Given the description of an element on the screen output the (x, y) to click on. 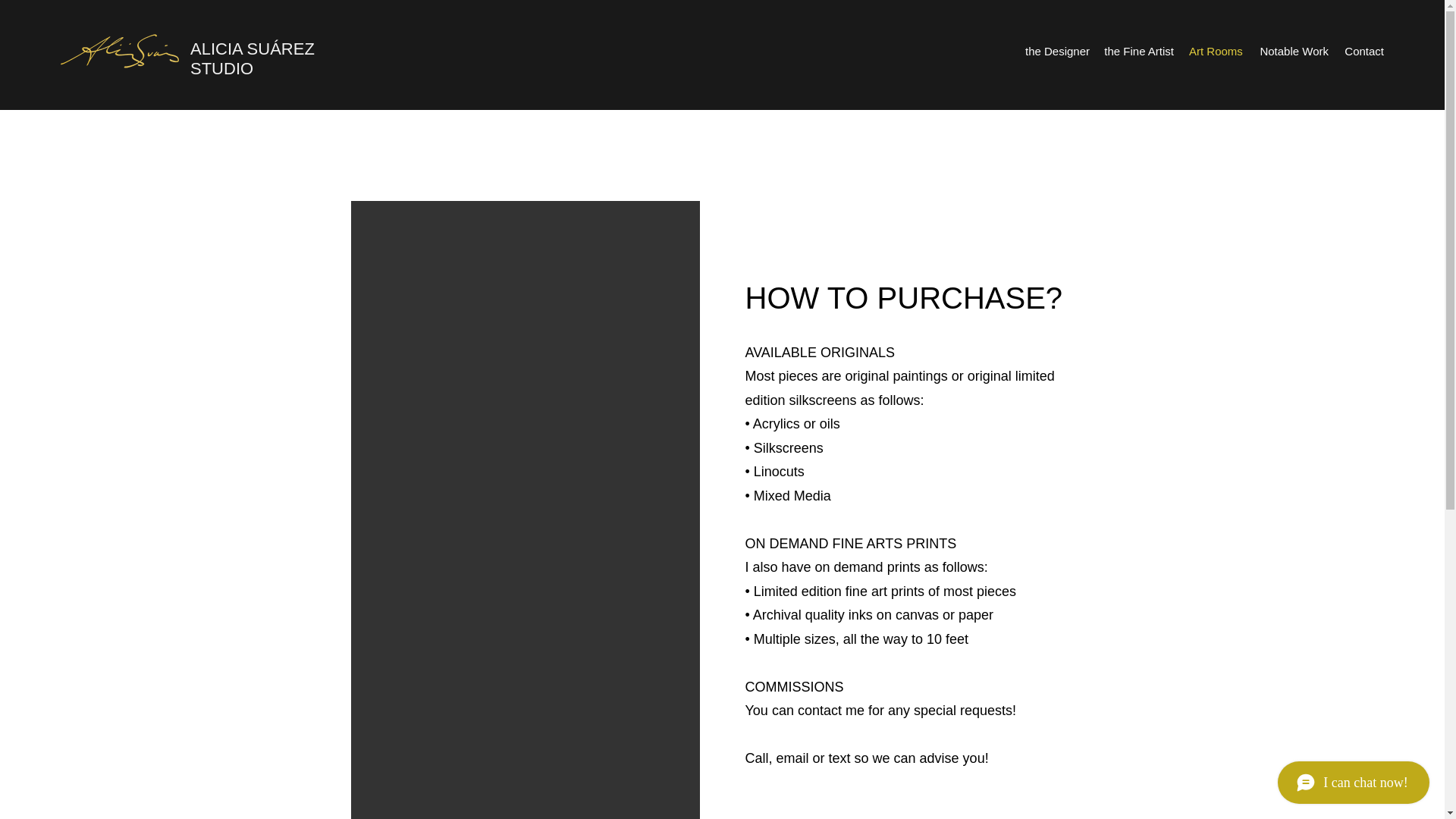
Contact Alicia (779, 816)
Contact (1363, 51)
Notable Work (1292, 51)
the Fine Artist (1138, 51)
Art Rooms (1214, 51)
the Designer (1056, 51)
